Given the description of an element on the screen output the (x, y) to click on. 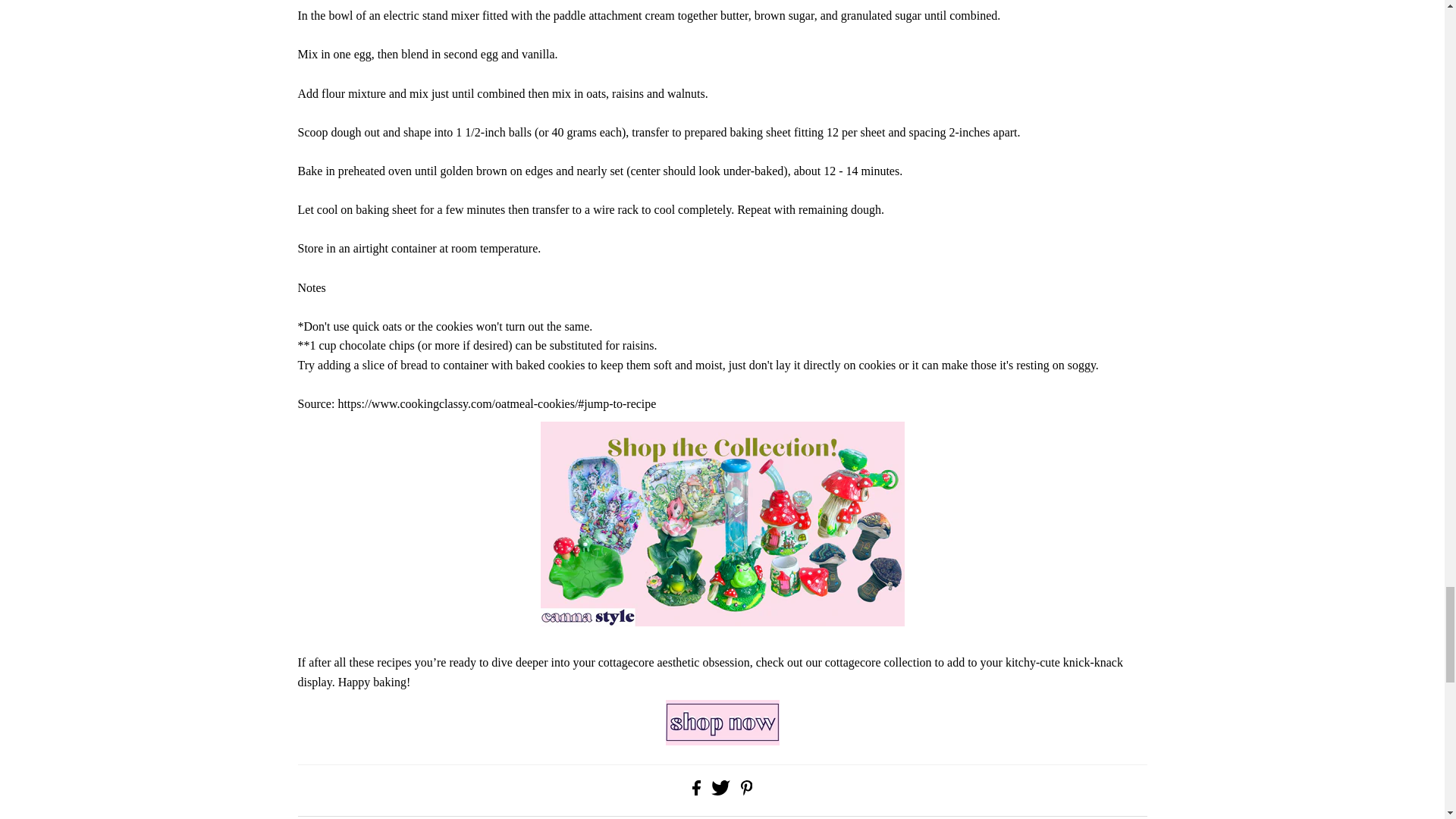
Share on Pinterest (745, 790)
CANNA STYLE FROG COTTAGE CORE COLLECTION SHOP NOW (722, 722)
Share on Twitter (722, 790)
Share on Facebook (698, 790)
